Given the description of an element on the screen output the (x, y) to click on. 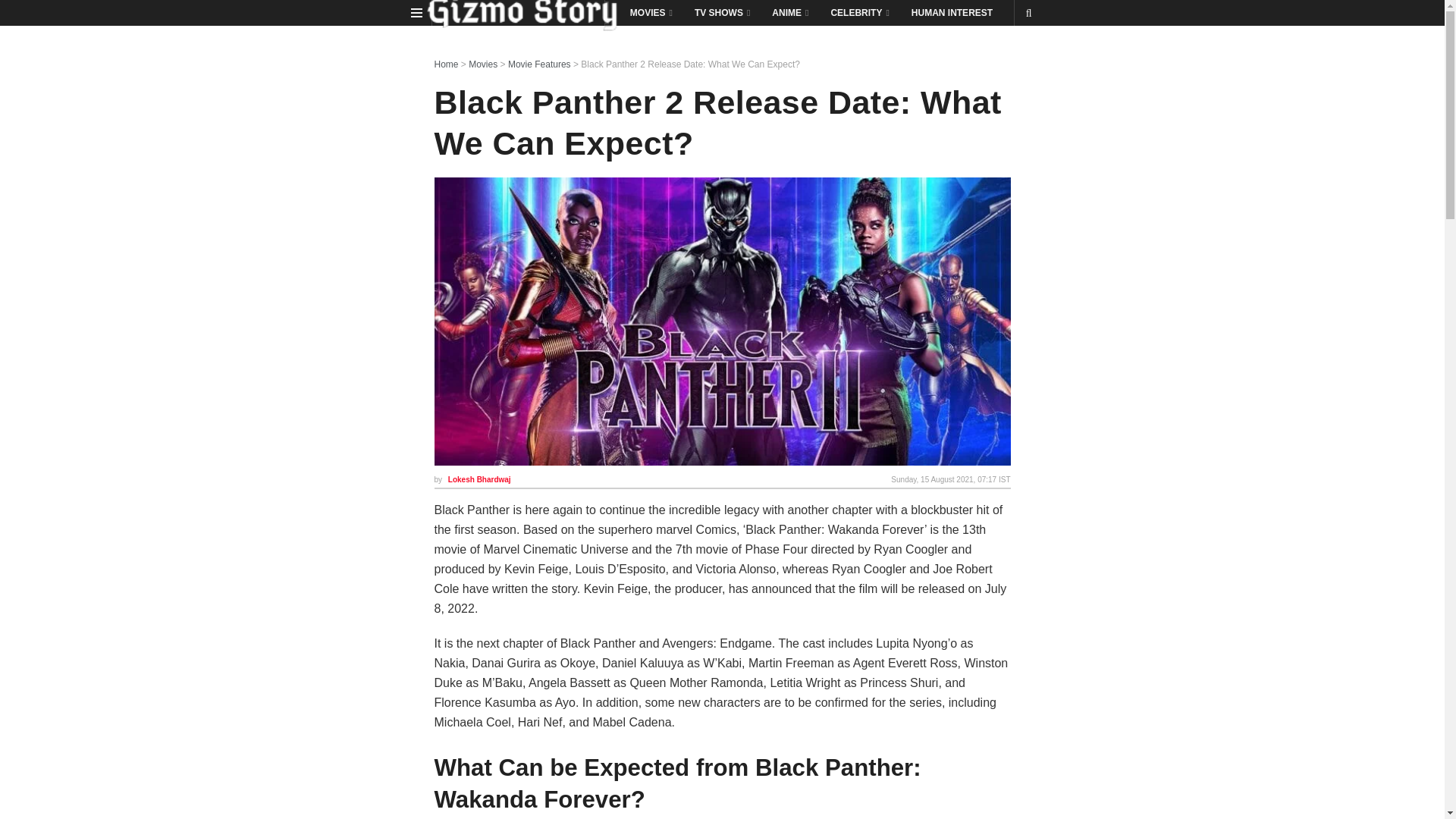
Go to the Movie Features Category archives. (539, 63)
Go to the Movies Category archives. (482, 63)
TV SHOWS (721, 12)
ANIME (789, 12)
HUMAN INTEREST (951, 12)
CELEBRITY (858, 12)
MOVIES (649, 12)
Go to Gizmo Story. (445, 63)
